Given the description of an element on the screen output the (x, y) to click on. 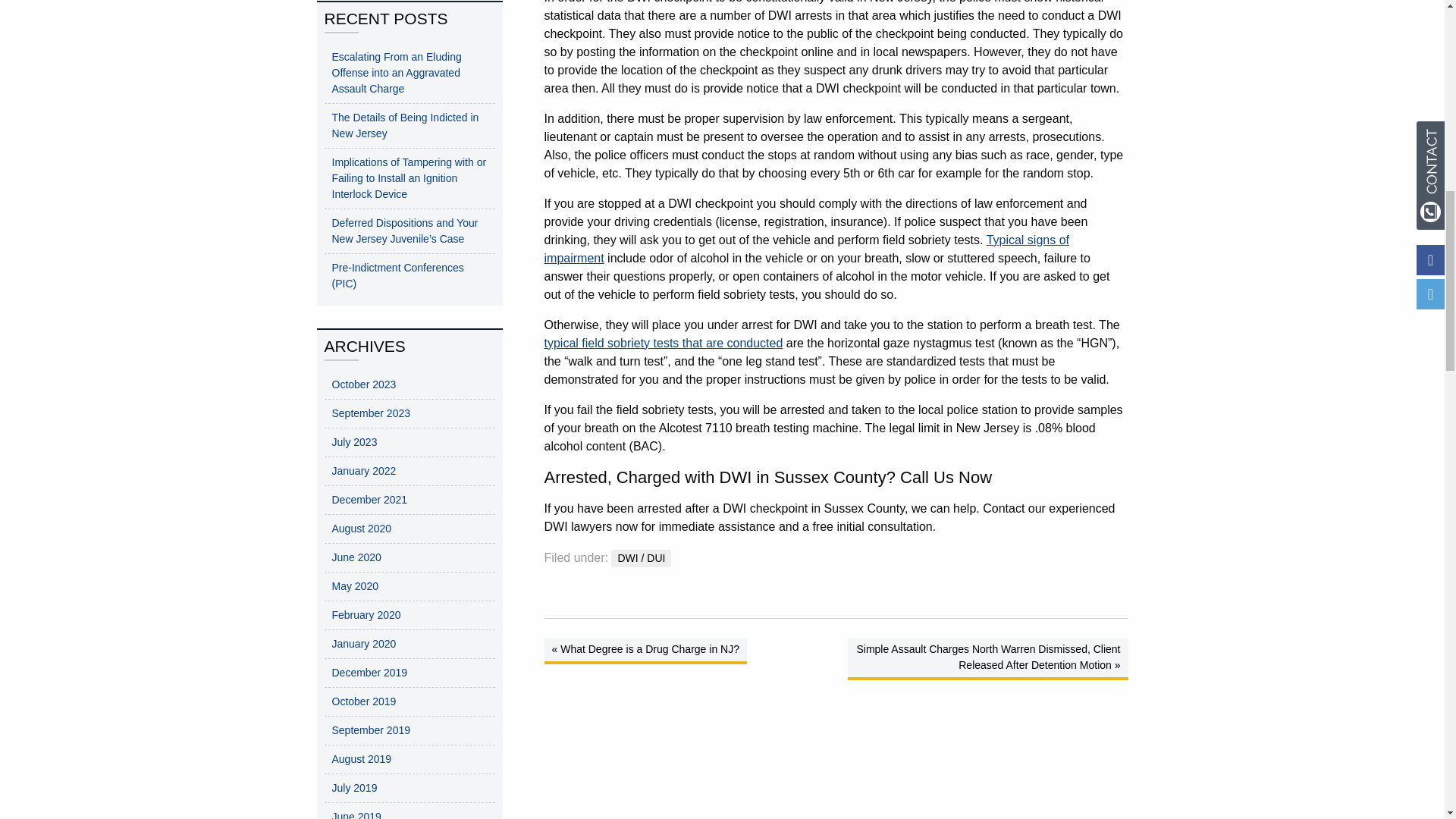
Typical signs of impairment (807, 248)
typical field sobriety tests that are conducted (663, 342)
